Given the description of an element on the screen output the (x, y) to click on. 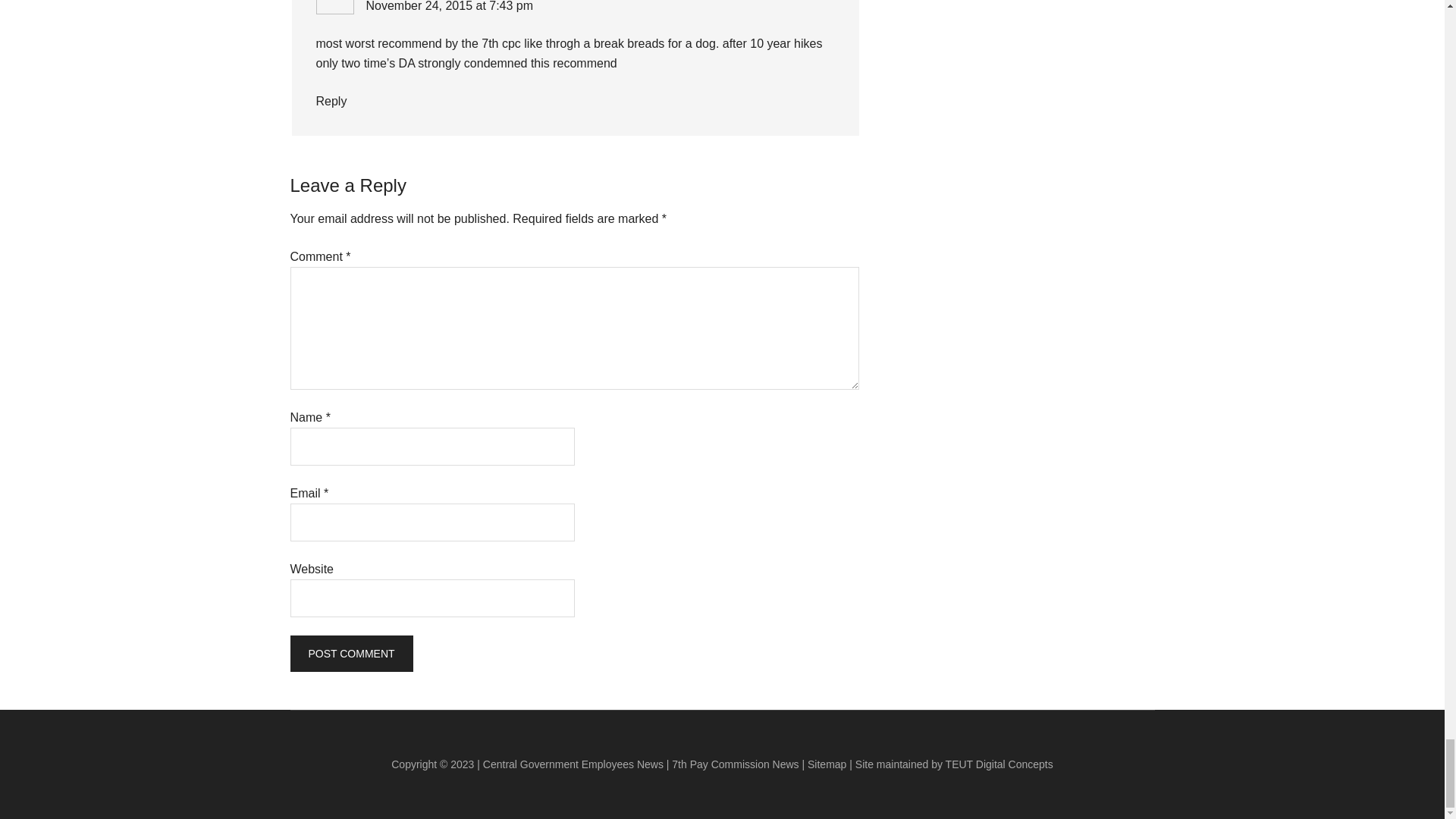
Post Comment (350, 653)
November 24, 2015 at 7:43 pm (448, 6)
Reply (330, 101)
